Given the description of an element on the screen output the (x, y) to click on. 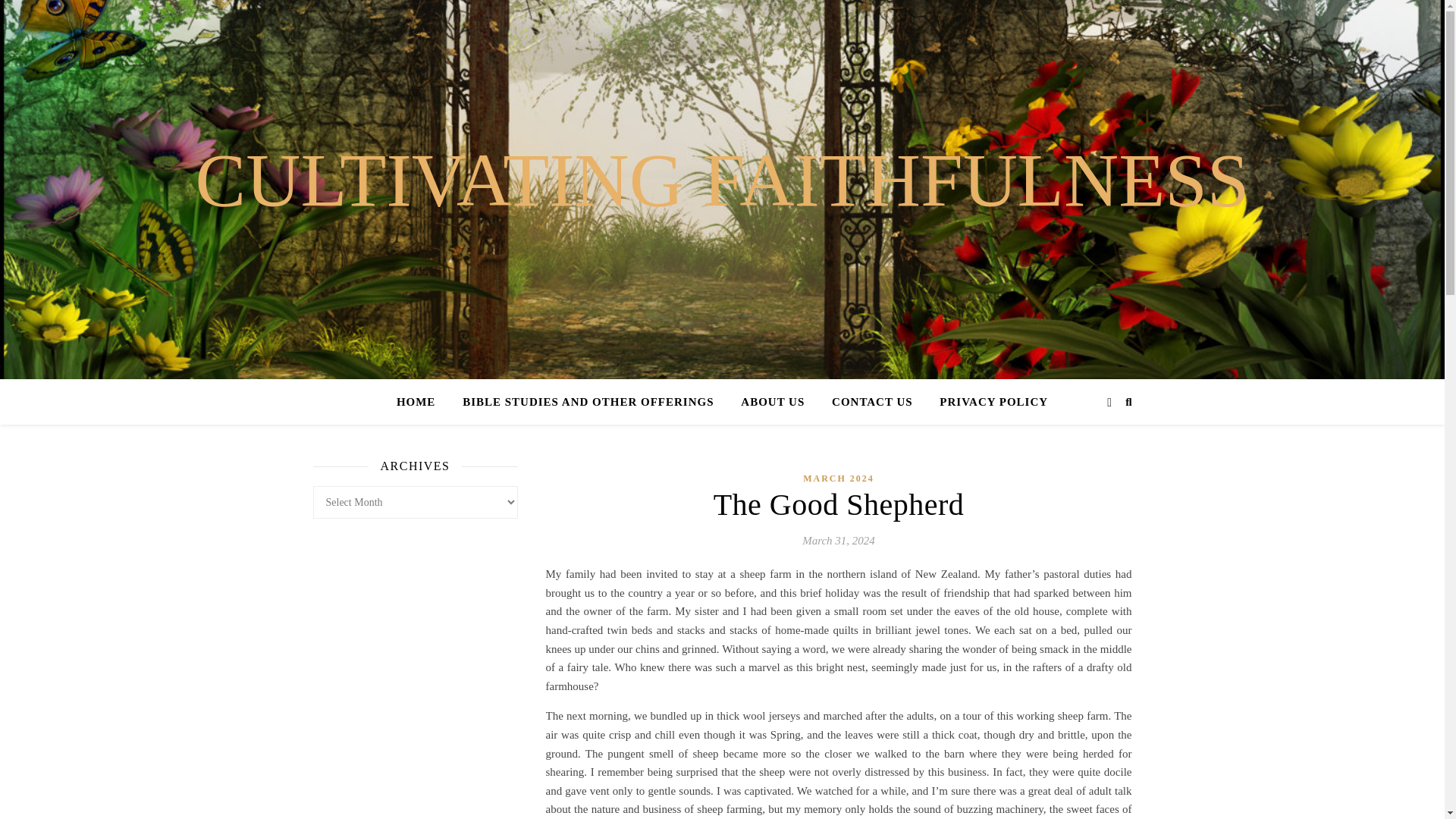
CONTACT US (871, 402)
MARCH 2024 (839, 478)
PRIVACY POLICY (987, 402)
HOME (422, 402)
BIBLE STUDIES AND OTHER OFFERINGS (587, 402)
ABOUT US (772, 402)
